Given the description of an element on the screen output the (x, y) to click on. 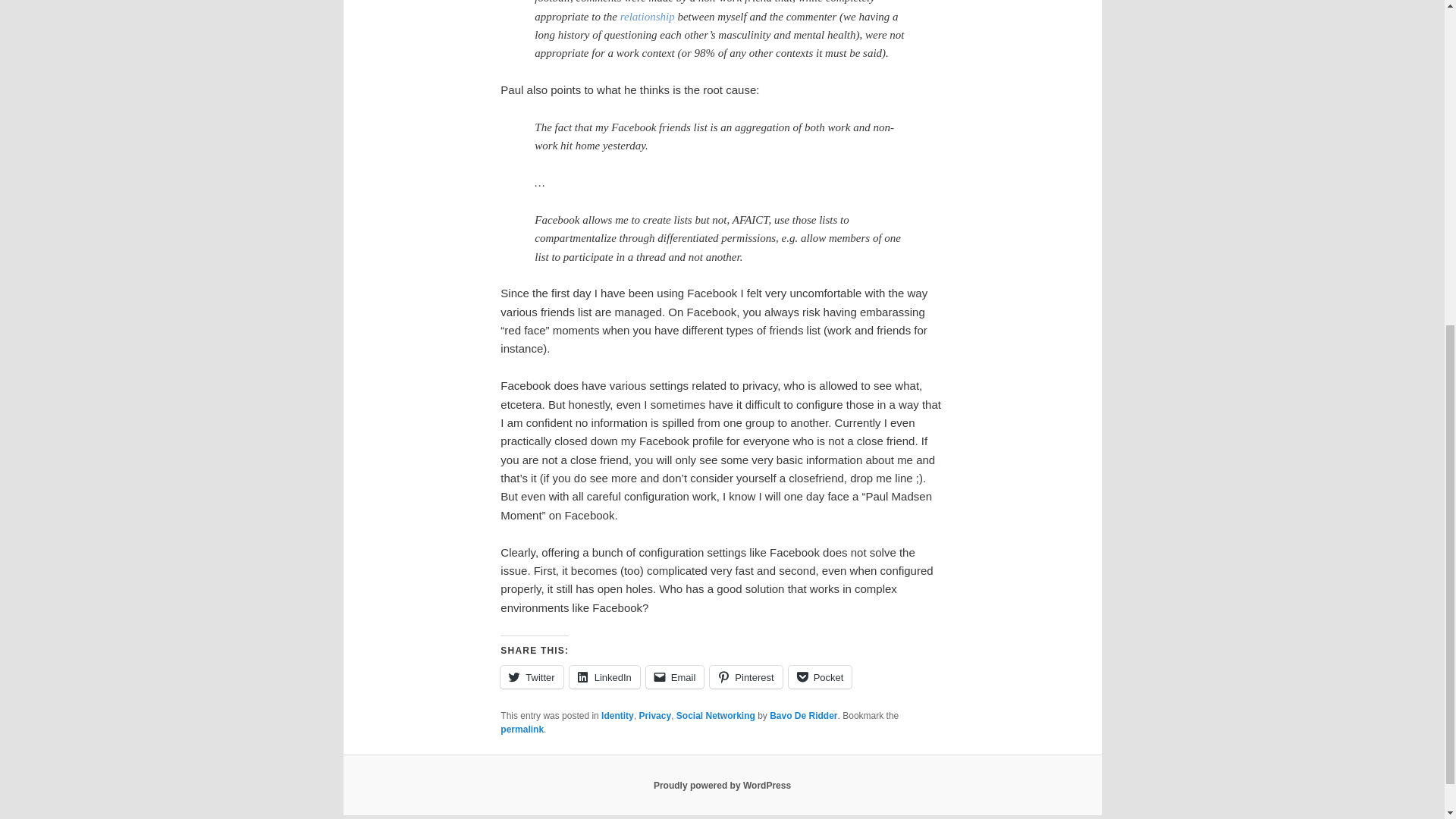
Email (675, 676)
Bavo De Ridder (803, 715)
Proudly powered by WordPress (721, 785)
permalink (521, 728)
Permalink to Embarassing Facebook Moments (521, 728)
Identity (617, 715)
Click to share on Twitter (531, 676)
Click to email a link to a friend (675, 676)
Semantic Personal Publishing Platform (721, 785)
Privacy (655, 715)
